Given the description of an element on the screen output the (x, y) to click on. 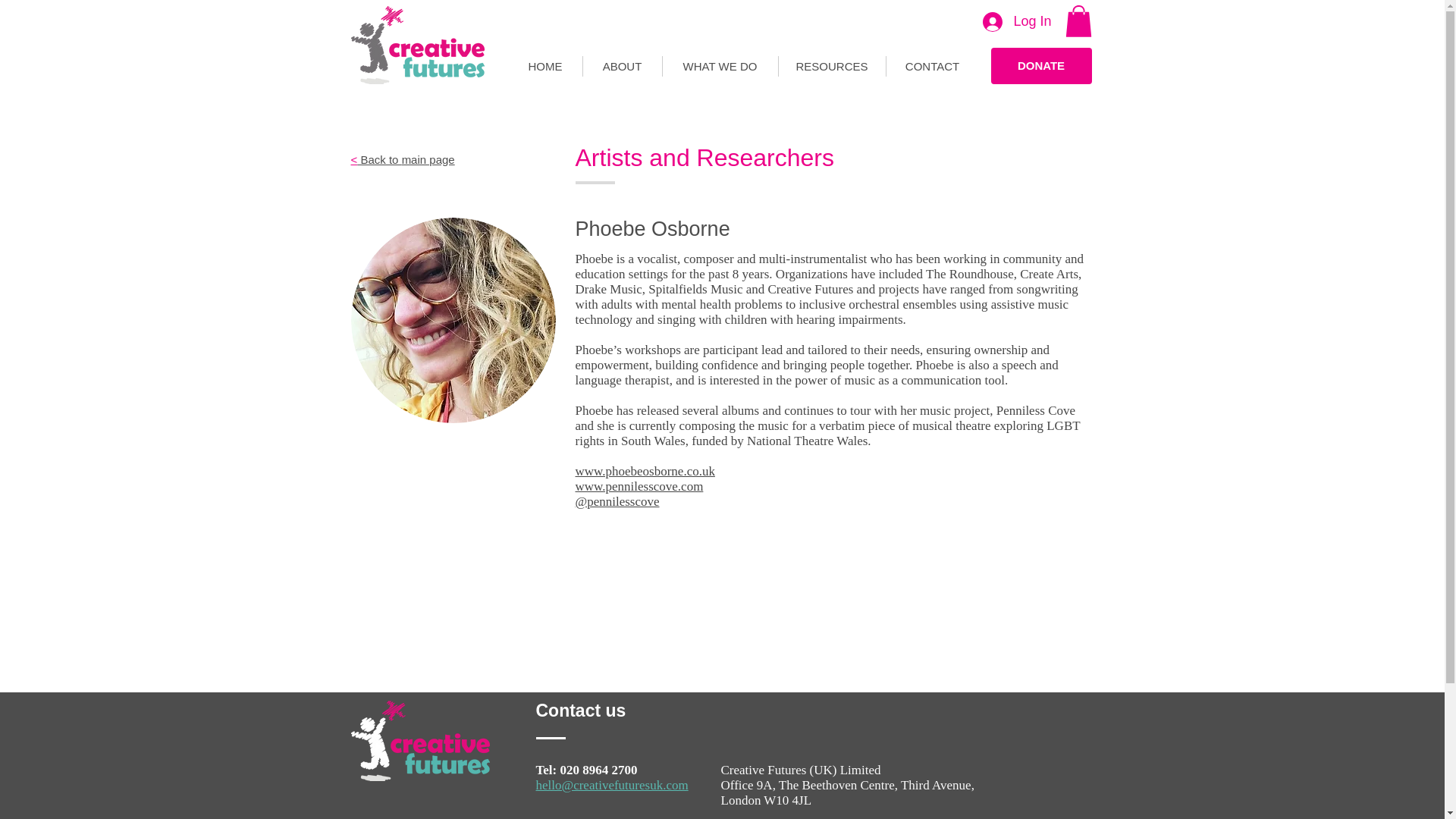
ABOUT (621, 66)
main page (427, 159)
WHAT WE DO (719, 66)
www.pennilesscove.com (639, 486)
Log In (1016, 21)
guy2.jpg (452, 320)
www.phoebeosborne.co.uk (644, 471)
RESOURCES (831, 66)
DONATE (1040, 65)
CONTACT (931, 66)
HOME (544, 66)
